Given the description of an element on the screen output the (x, y) to click on. 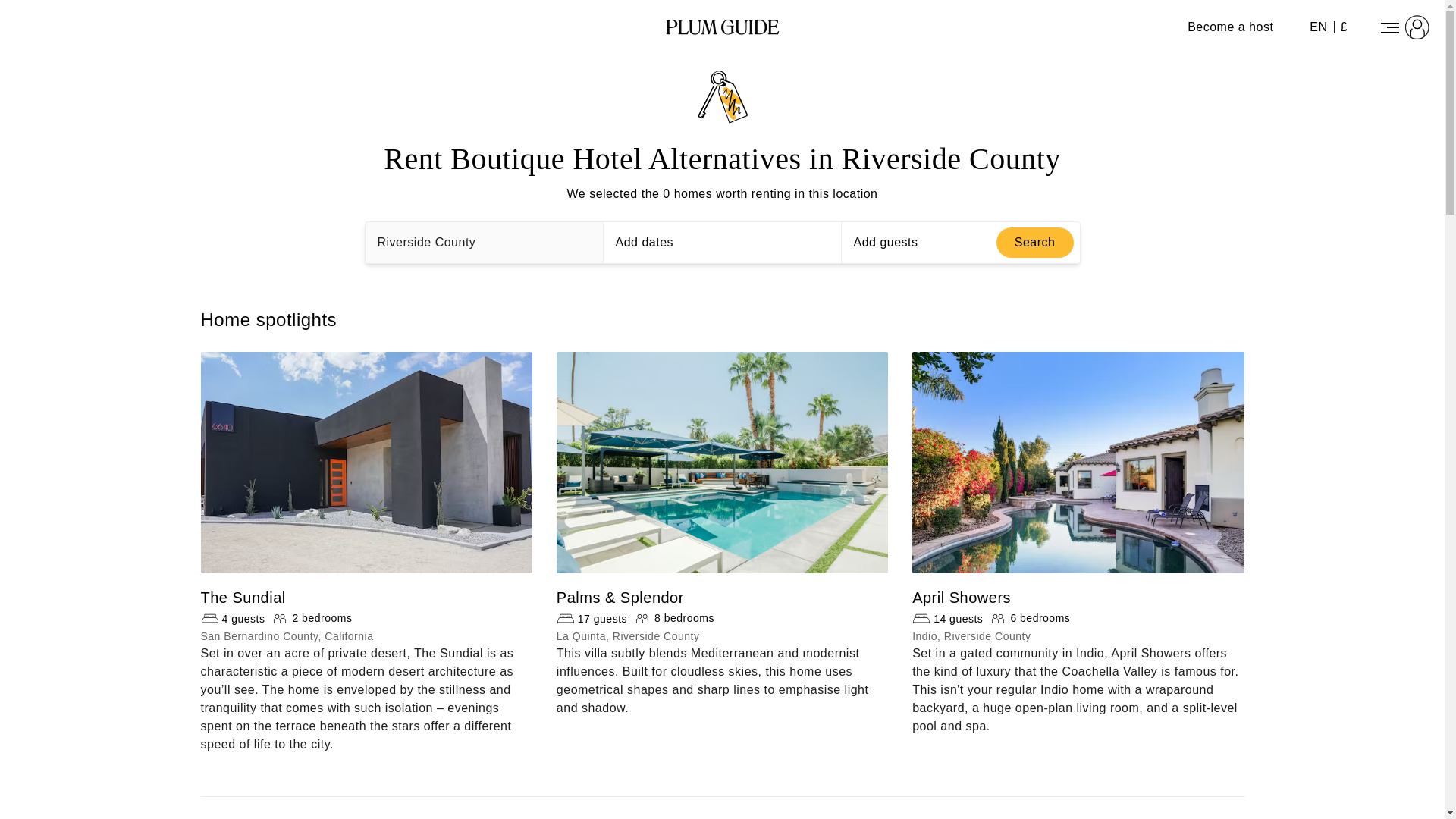
Search (1034, 242)
Become a host (1229, 27)
Riverside County (483, 241)
Add dates (722, 241)
Add guests (963, 241)
